Given the description of an element on the screen output the (x, y) to click on. 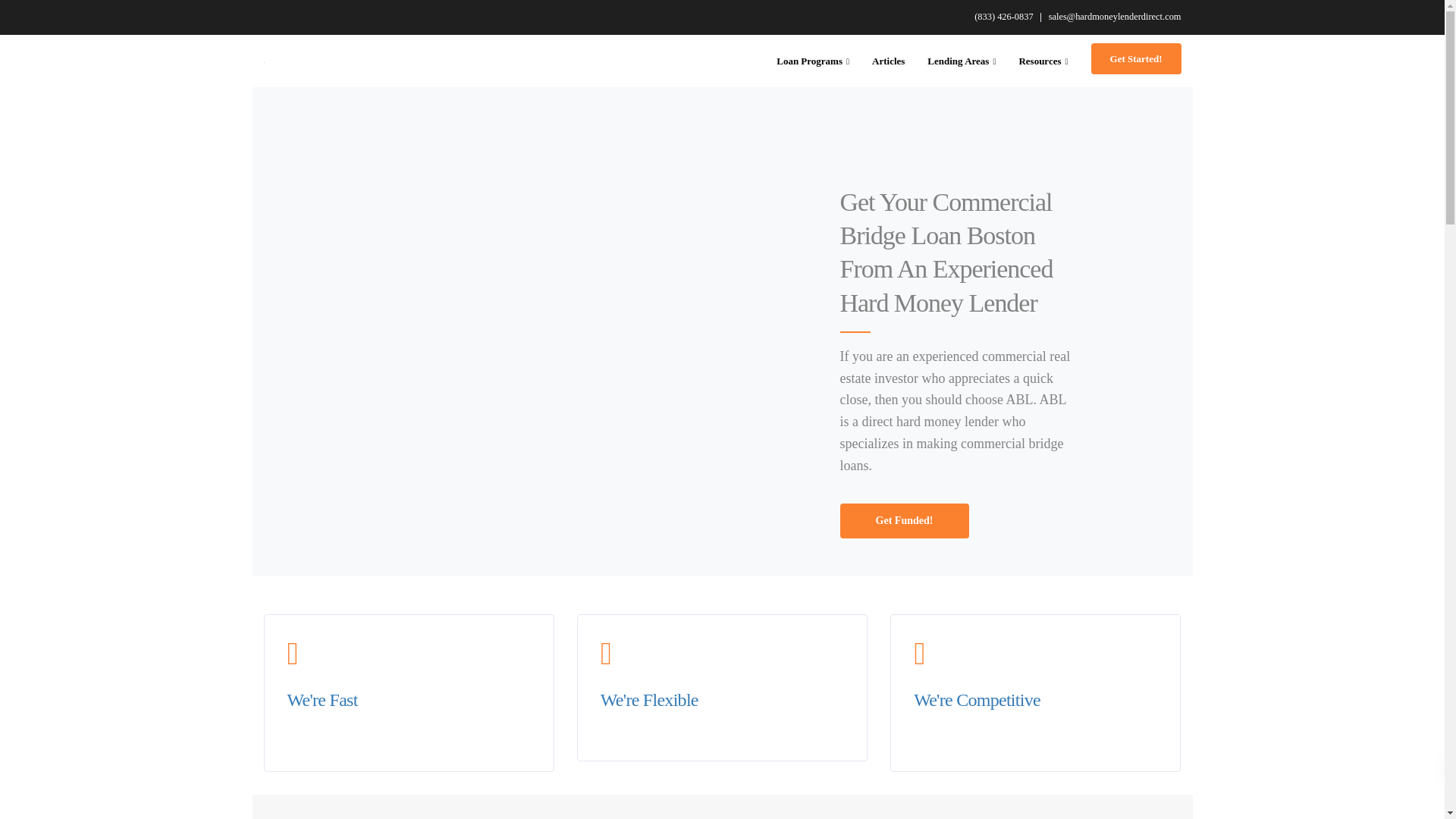
Resources (1042, 60)
Lending Areas (961, 60)
Loan Programs (812, 60)
Loan Programs (812, 60)
Articles (887, 60)
Lending Areas (961, 60)
Articles (887, 60)
